Given the description of an element on the screen output the (x, y) to click on. 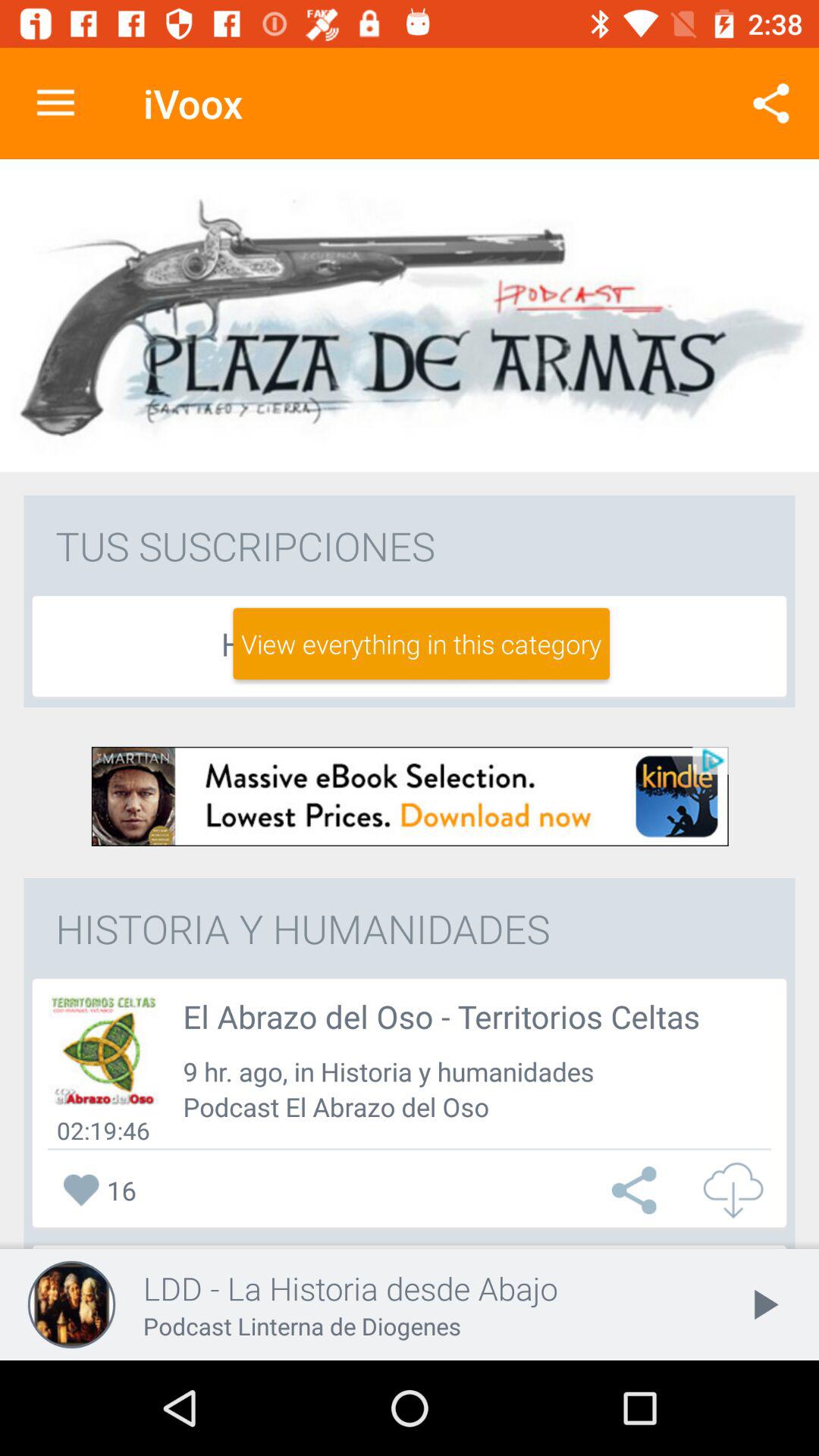
share button (637, 1190)
